Given the description of an element on the screen output the (x, y) to click on. 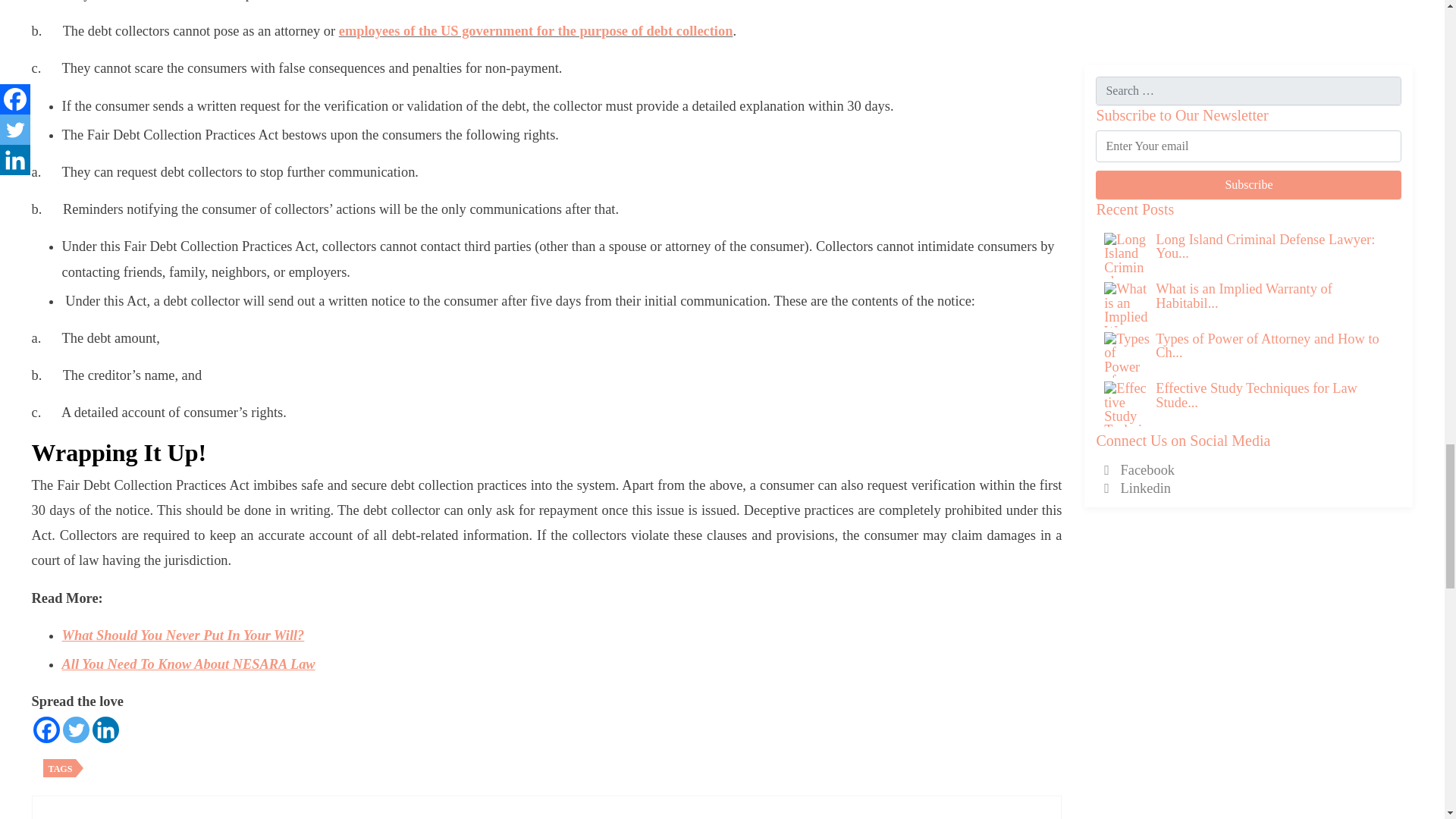
Facebook (46, 729)
All You Need To Know About NESARA Law (188, 663)
What Should You Never Put In Your Will? (183, 635)
Linkedin (106, 729)
Twitter (75, 729)
